Given the description of an element on the screen output the (x, y) to click on. 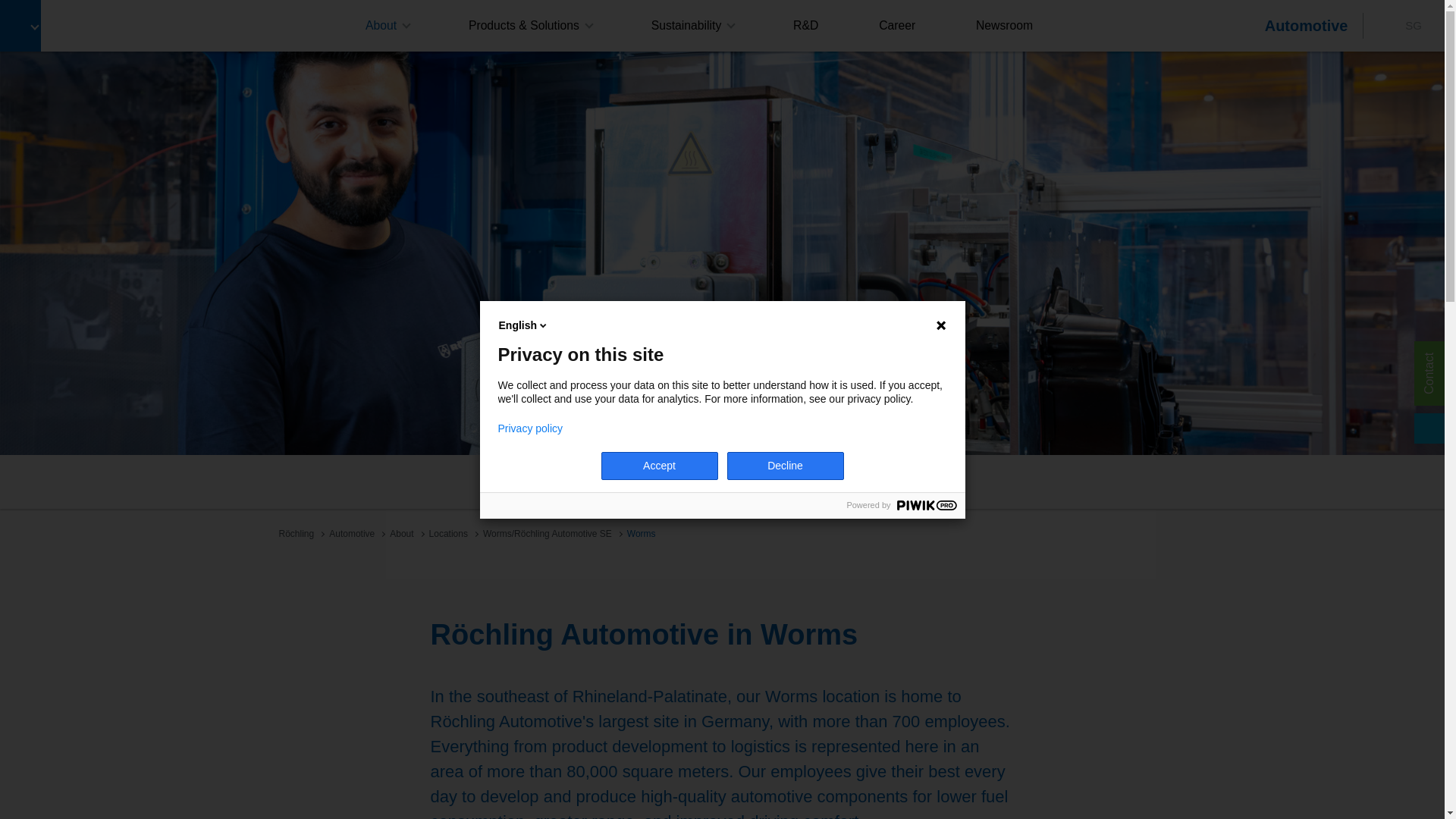
1 (706, 421)
Worms (662, 484)
Newsroom (1003, 25)
Sustainability (691, 25)
About (401, 533)
Locations (448, 533)
Sustainability (691, 25)
3 (736, 421)
SG (1413, 24)
Contact (775, 484)
Automotive (351, 533)
Automotive (1306, 25)
2 (721, 421)
Career (716, 484)
Newsroom (1003, 25)
